Given the description of an element on the screen output the (x, y) to click on. 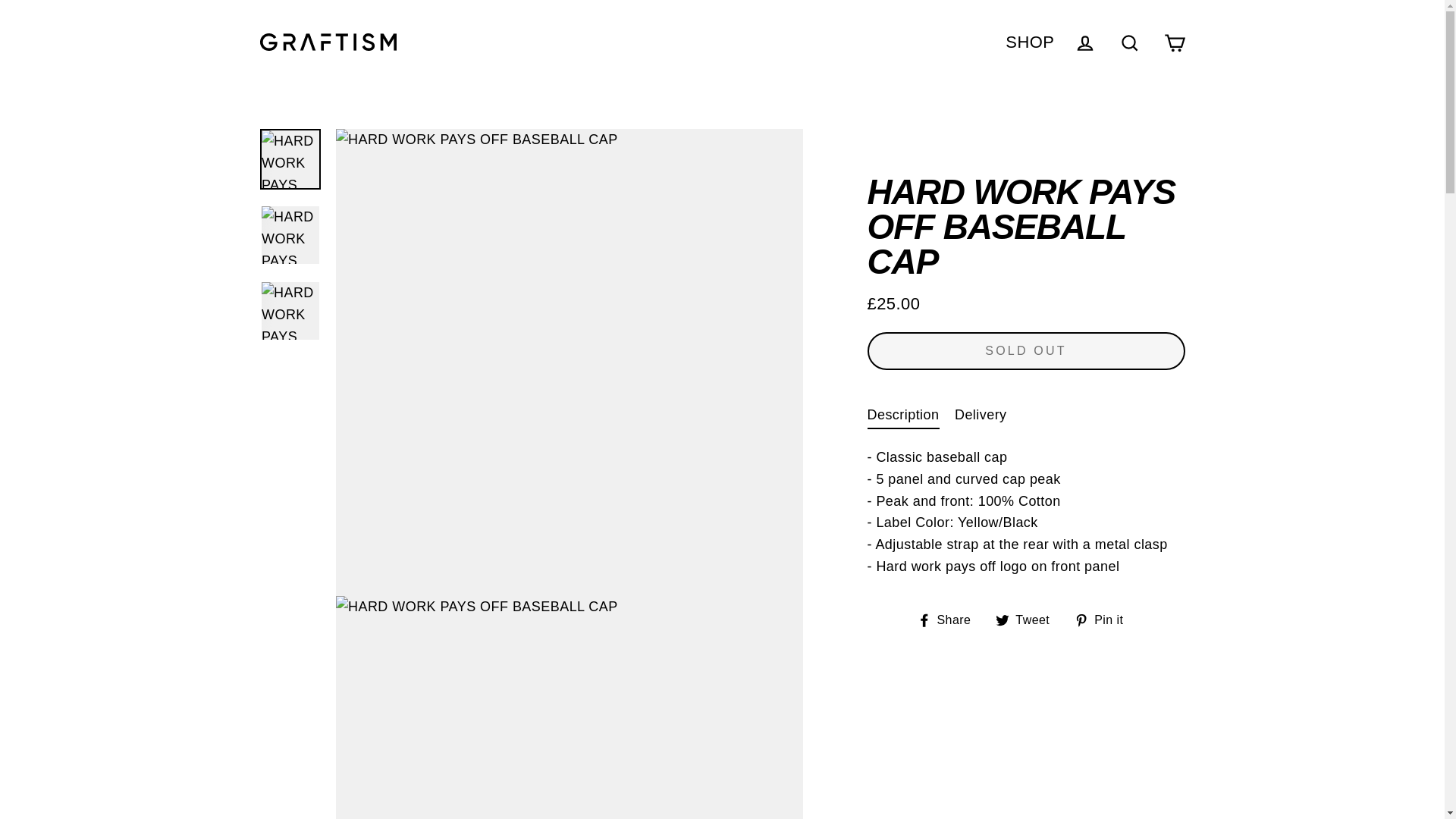
Description (903, 413)
Delivery (981, 413)
SOLD OUT (1026, 351)
Share on Facebook (949, 619)
Search (949, 619)
Log in (1129, 41)
SHOP (1085, 41)
Pin on Pinterest (1029, 41)
